Given the description of an element on the screen output the (x, y) to click on. 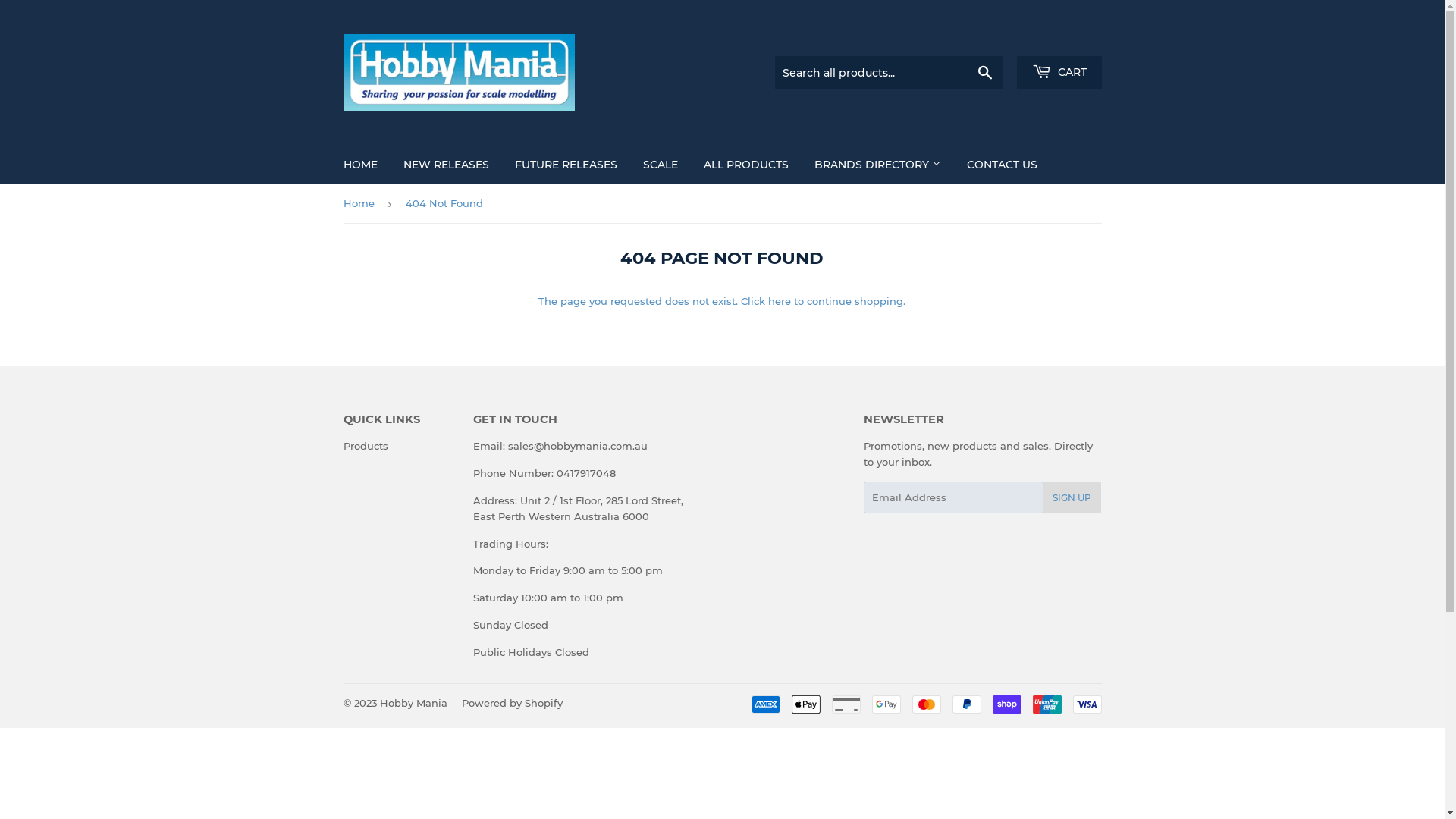
Home Element type: text (360, 203)
SIGN UP Element type: text (1071, 497)
BRANDS DIRECTORY Element type: text (876, 164)
Search Element type: text (984, 73)
CART Element type: text (1058, 72)
FUTURE RELEASES Element type: text (565, 164)
Products Element type: text (364, 445)
CONTACT US Element type: text (1001, 164)
here Element type: text (779, 300)
NEW RELEASES Element type: text (445, 164)
ALL PRODUCTS Element type: text (745, 164)
SCALE Element type: text (659, 164)
Powered by Shopify Element type: text (511, 702)
Hobby Mania Element type: text (412, 702)
HOME Element type: text (360, 164)
